Given the description of an element on the screen output the (x, y) to click on. 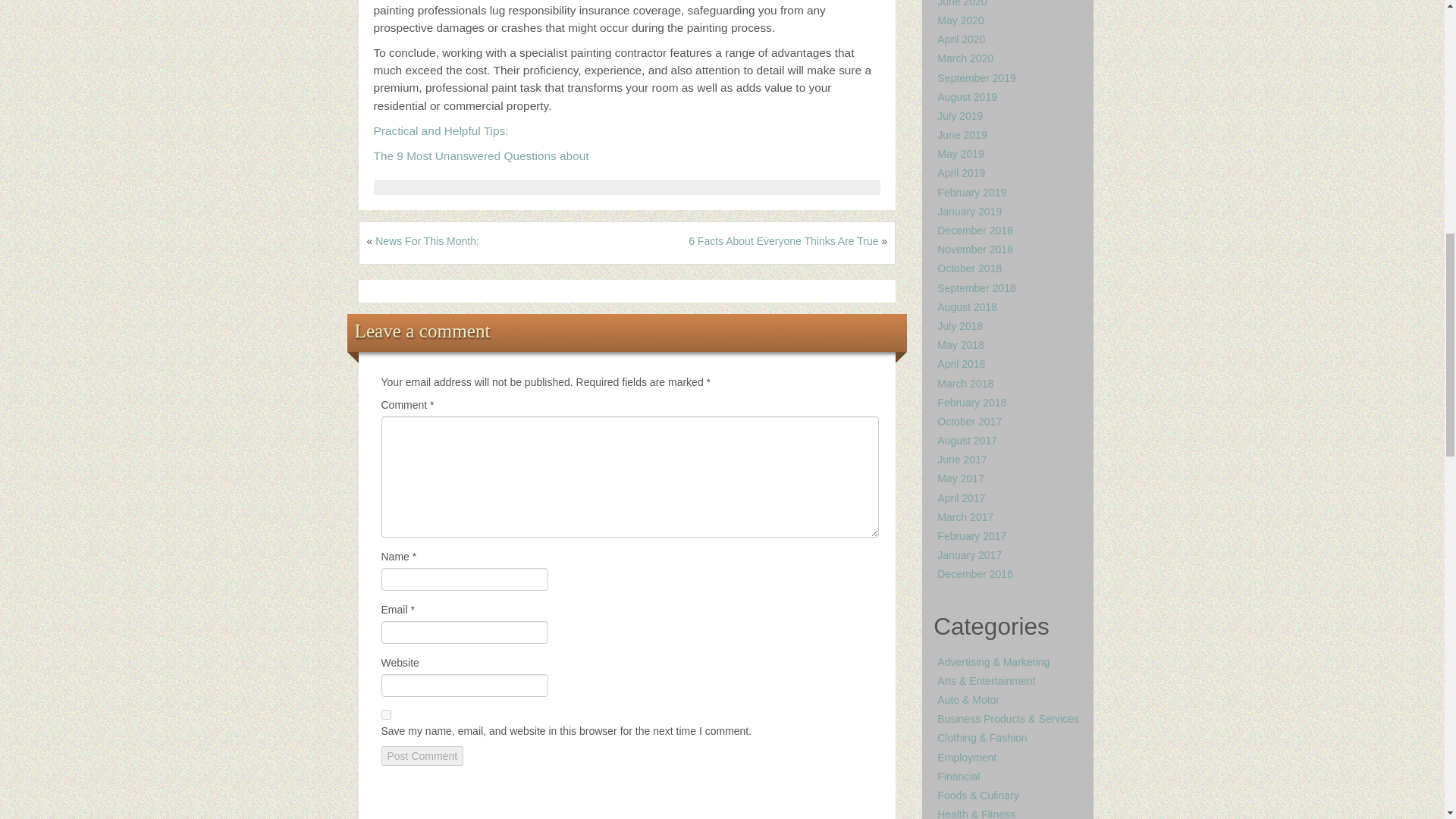
Post Comment (421, 755)
Practical and Helpful Tips: (440, 130)
June 2020 (962, 3)
yes (385, 714)
6 Facts About Everyone Thinks Are True (782, 241)
The 9 Most Unanswered Questions about (480, 155)
News For This Month: (427, 241)
Post Comment (421, 755)
